Given the description of an element on the screen output the (x, y) to click on. 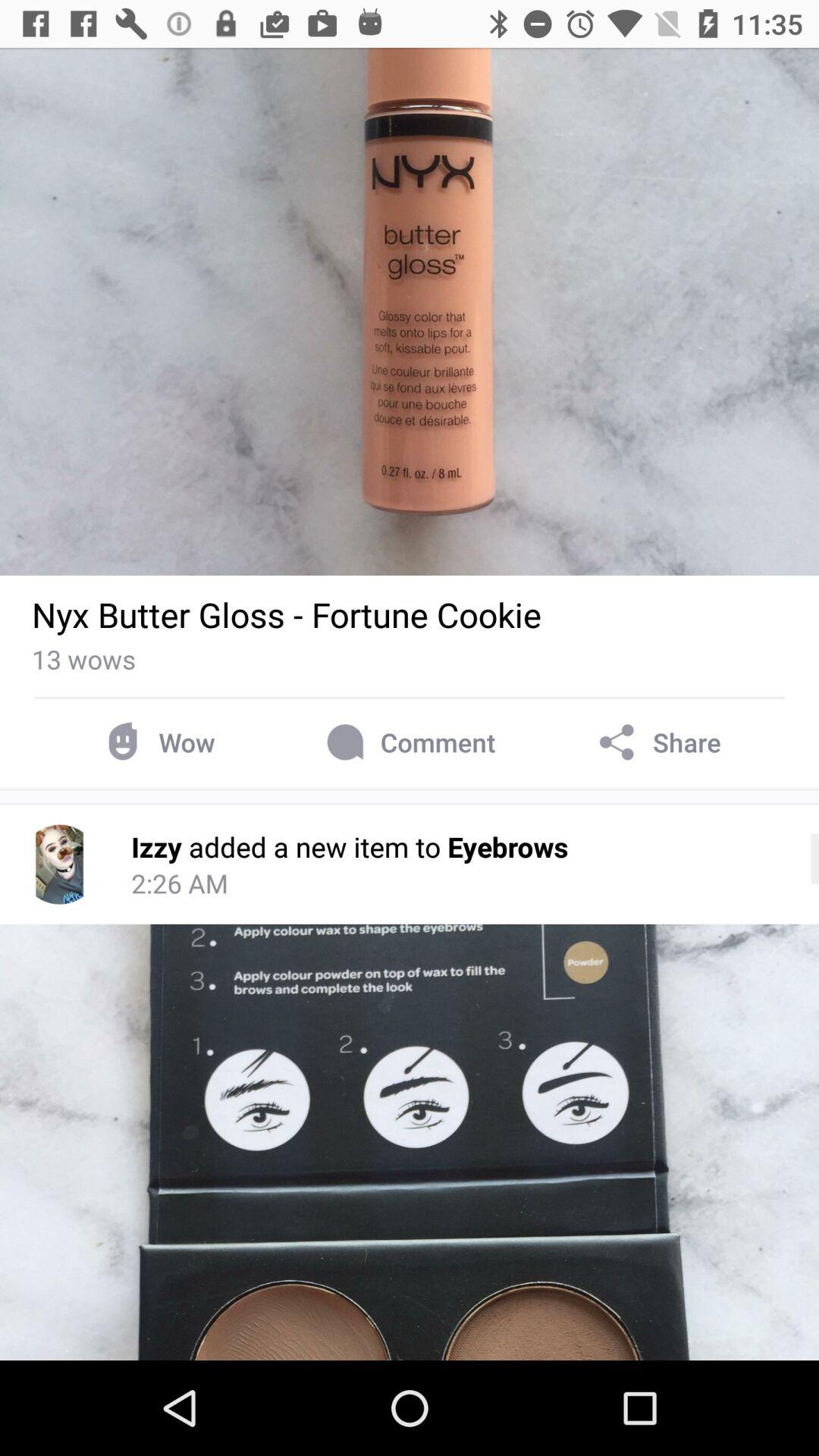
click the share button on the web page (657, 743)
click on the button wow beside comment (156, 743)
move to the text 13 wows on the web page (83, 659)
